Given the description of an element on the screen output the (x, y) to click on. 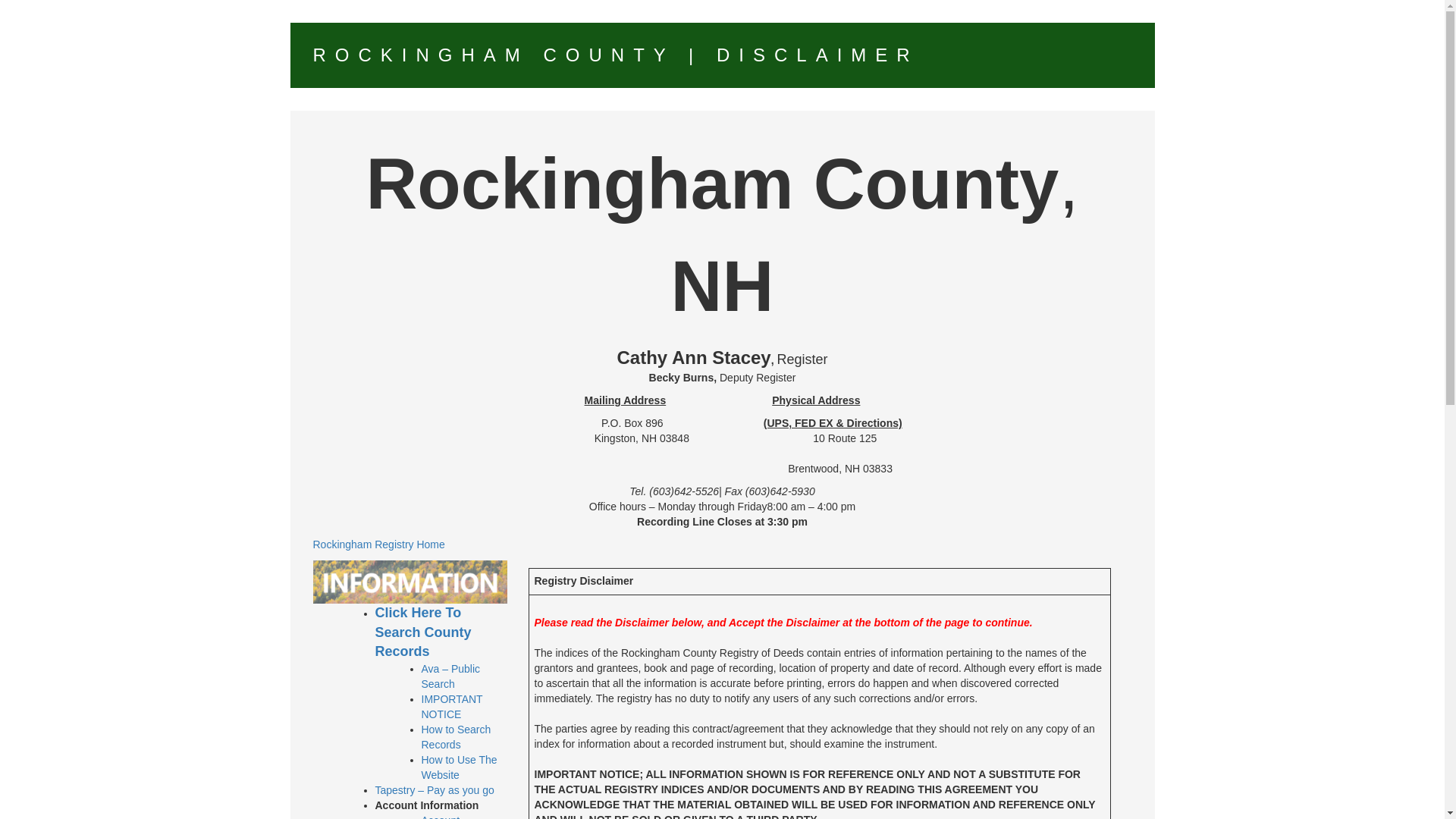
How to Use The Website (459, 767)
IMPORTANT NOTICE (452, 706)
Account Information (448, 816)
Rockingham Registry Home (378, 544)
Click Here To Search County Records (422, 632)
How to Search Records (457, 737)
